Given the description of an element on the screen output the (x, y) to click on. 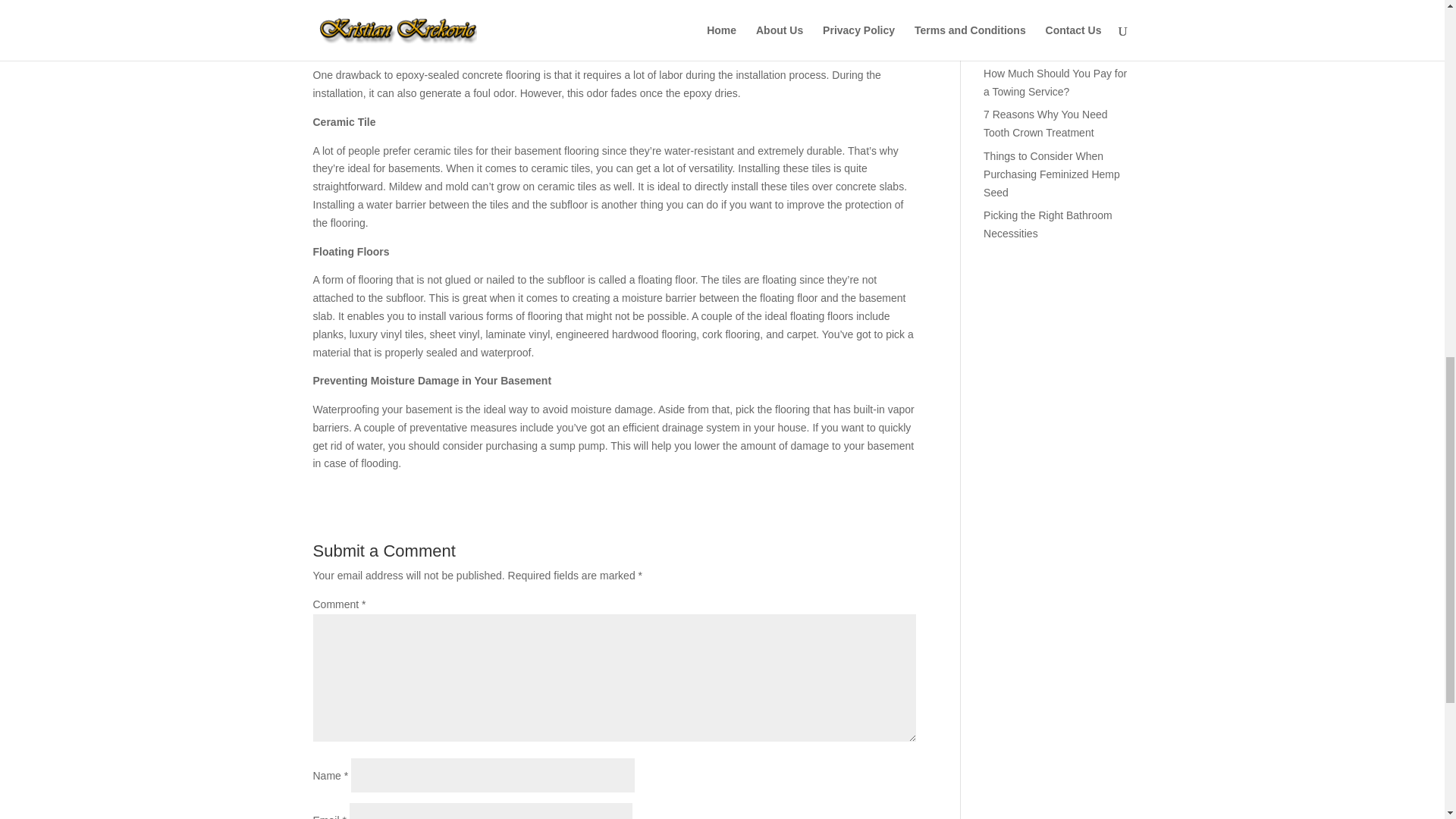
Things to Consider When Purchasing Feminized Hemp Seed  (1051, 174)
How Much Should You Pay for a Towing Service?  (1055, 82)
7 Reasons Why You Need Tooth Crown Treatment  (1045, 123)
Picking the Right Bathroom Necessities  (1048, 224)
